Given the description of an element on the screen output the (x, y) to click on. 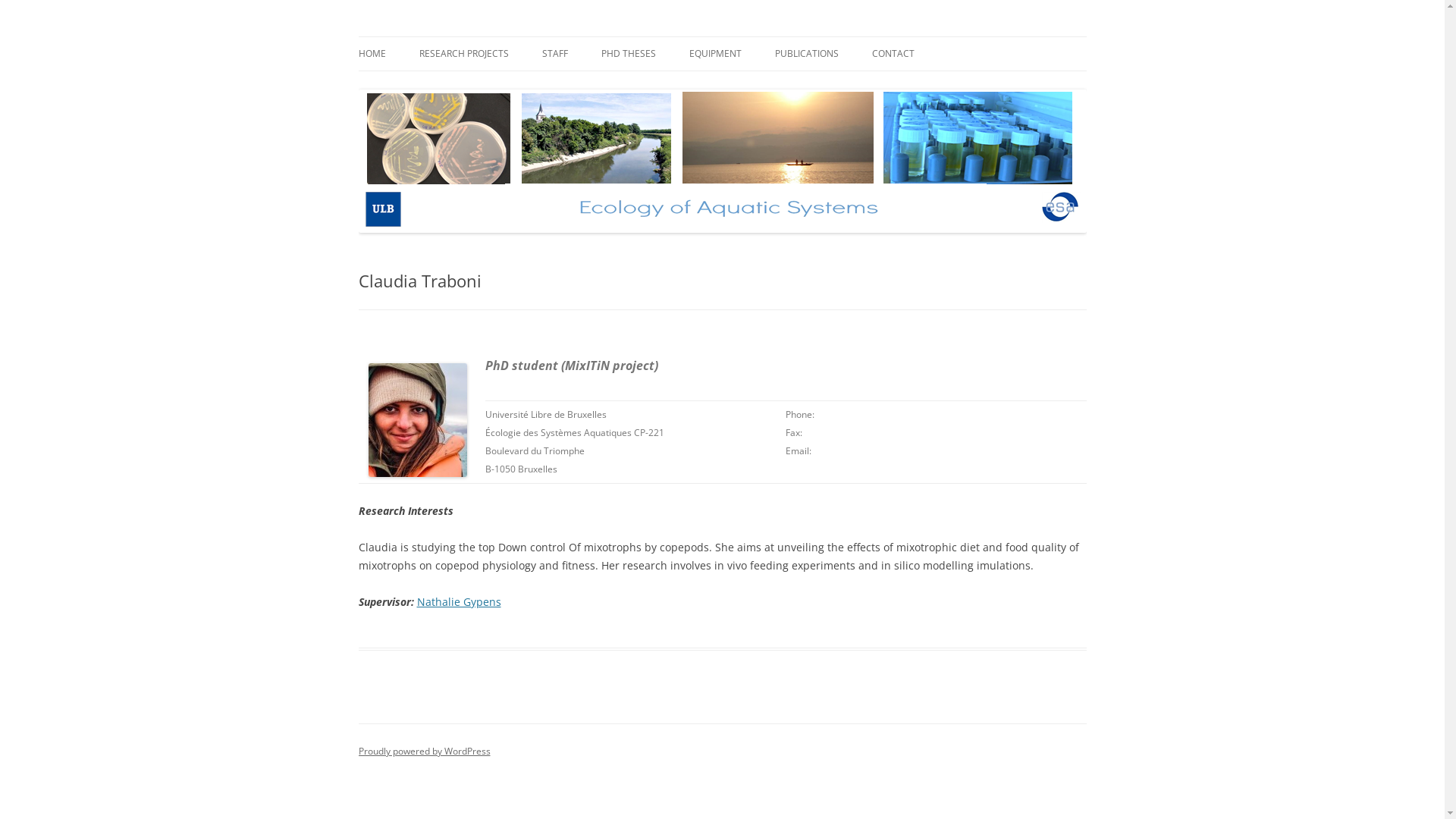
CONTACT Element type: text (893, 53)
Nathalie Gypens Element type: text (459, 601)
Proudly powered by WordPress Element type: text (423, 750)
RESEARCH PROJECTS Element type: text (463, 53)
STAFF Element type: text (554, 53)
HOME Element type: text (371, 53)
PUBLICATIONS Element type: text (806, 53)
EQUIPMENT Element type: text (714, 53)
PHD THESES Element type: text (627, 53)
Skip to content Element type: text (759, 41)
